Given the description of an element on the screen output the (x, y) to click on. 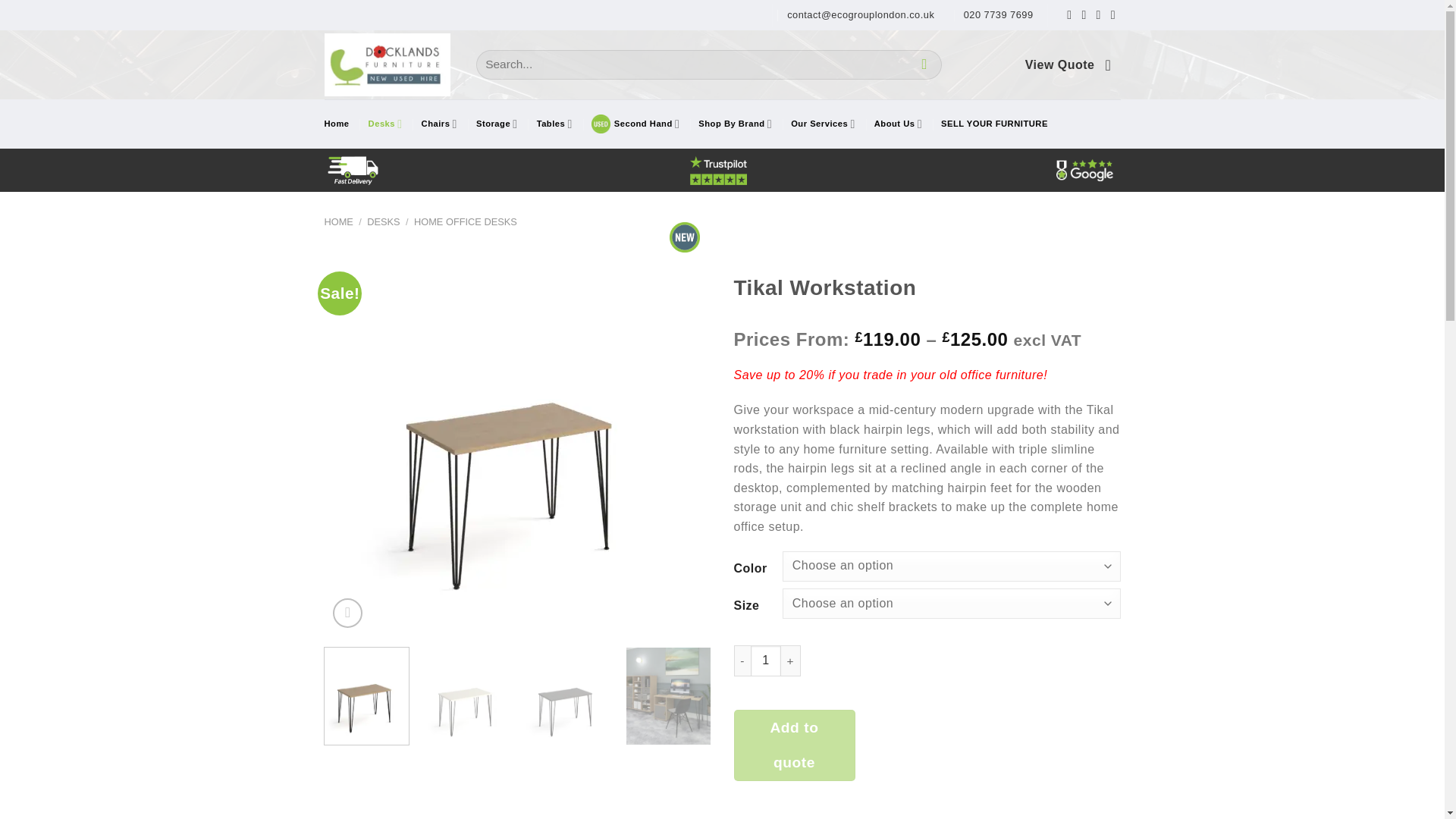
View Quote (1059, 64)
Cart (1113, 64)
Chairs (449, 123)
Docklands Furniture (386, 64)
Desks (395, 123)
Home (346, 123)
Zoom (347, 613)
Search (924, 64)
1 (765, 660)
020 7739 7699 (998, 15)
Storage (506, 123)
- (742, 660)
